Given the description of an element on the screen output the (x, y) to click on. 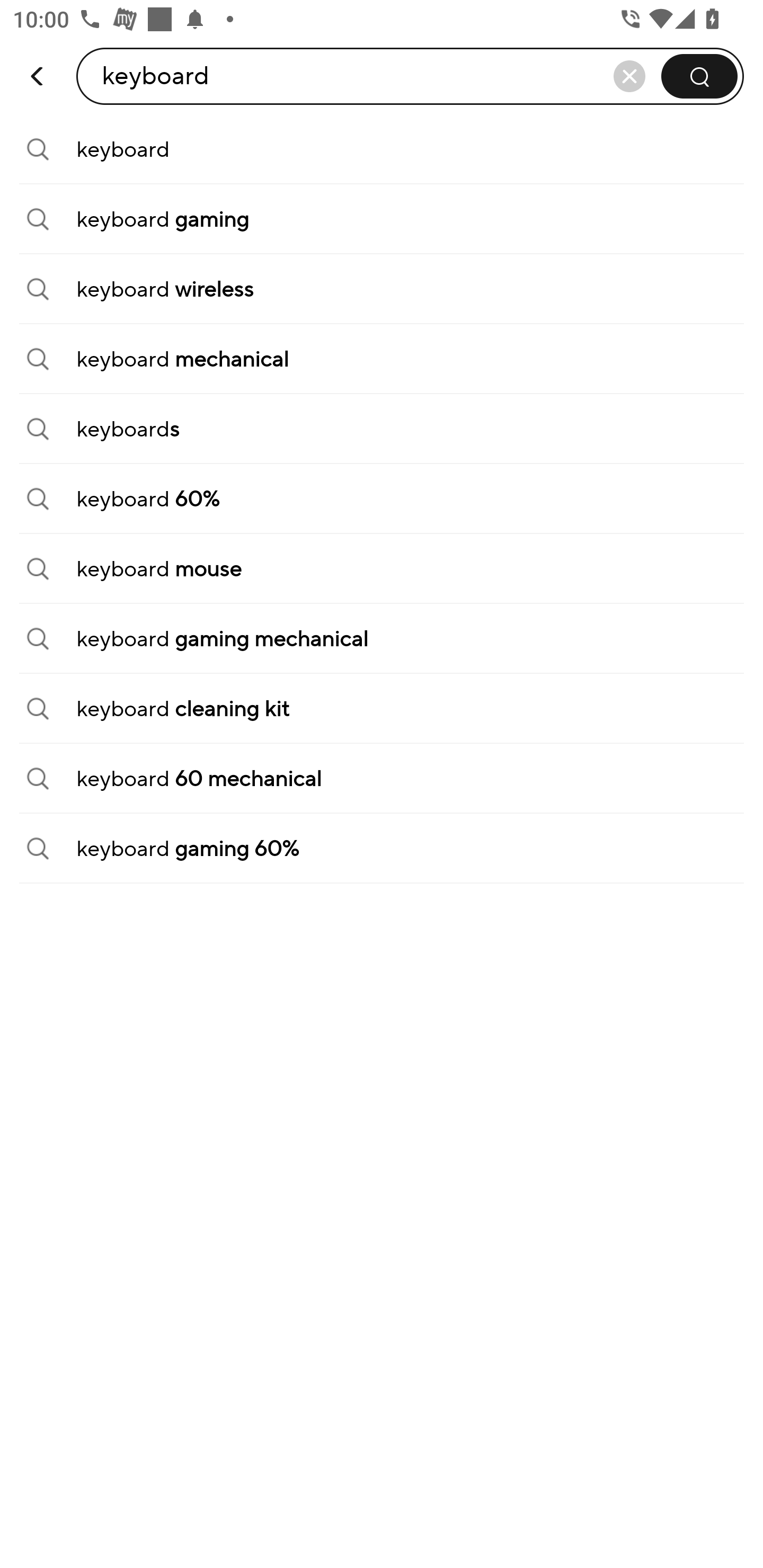
keyboard gaming setup accessories (409, 76)
keyboard (381, 149)
keyboard gaming (381, 219)
keyboard wireless (381, 289)
keyboard mechanical (381, 358)
keyboards (381, 428)
keyboard 60% (381, 499)
keyboard mouse (381, 568)
keyboard gaming mechanical (381, 638)
keyboard cleaning kit (381, 708)
keyboard 60 mechanical (381, 778)
keyboard gaming 60% (381, 848)
